Given the description of an element on the screen output the (x, y) to click on. 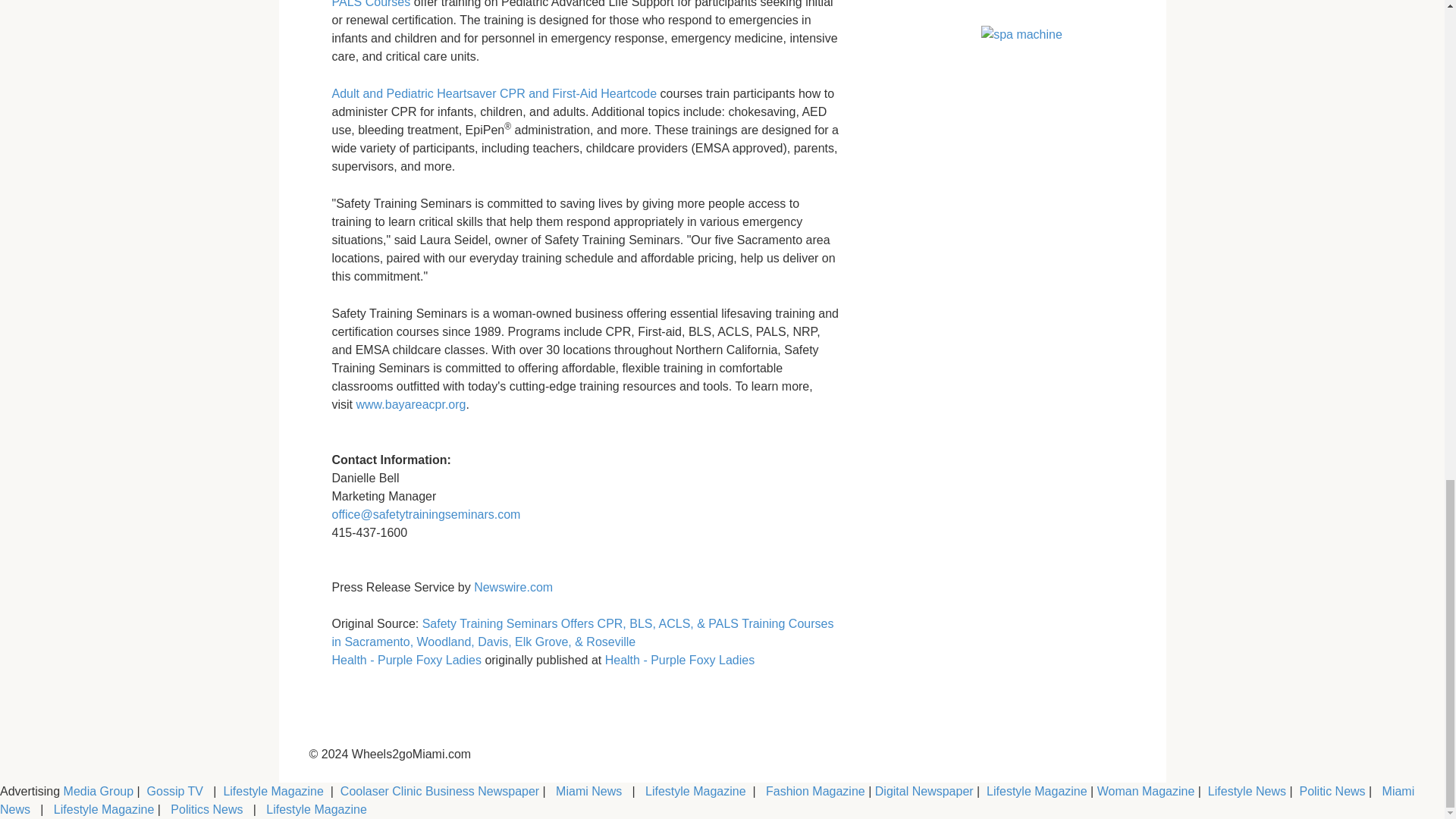
Adult and Pediatric Heartsaver CPR and First-Aid Heartcode (494, 92)
 www.bayareacpr.org (408, 404)
PALS Courses (370, 4)
